Given the description of an element on the screen output the (x, y) to click on. 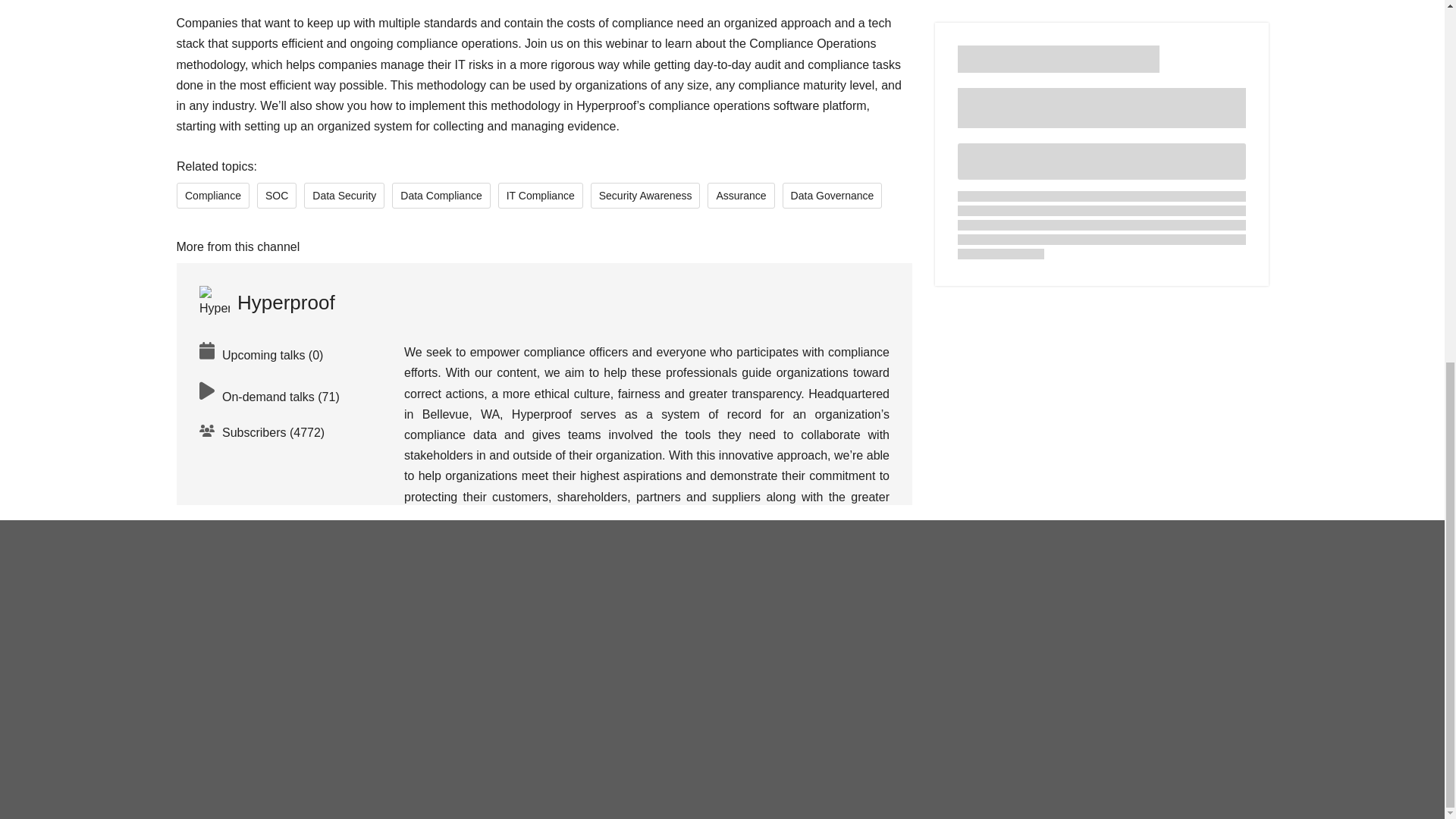
Data Security (344, 196)
Hyperproof (266, 302)
Data Governance (831, 196)
Compliance (212, 196)
Assurance (740, 196)
Visit Hyperproof's channel (266, 302)
IT Compliance (539, 196)
Data Compliance (440, 196)
Security Awareness (644, 196)
SOC (275, 196)
